Given the description of an element on the screen output the (x, y) to click on. 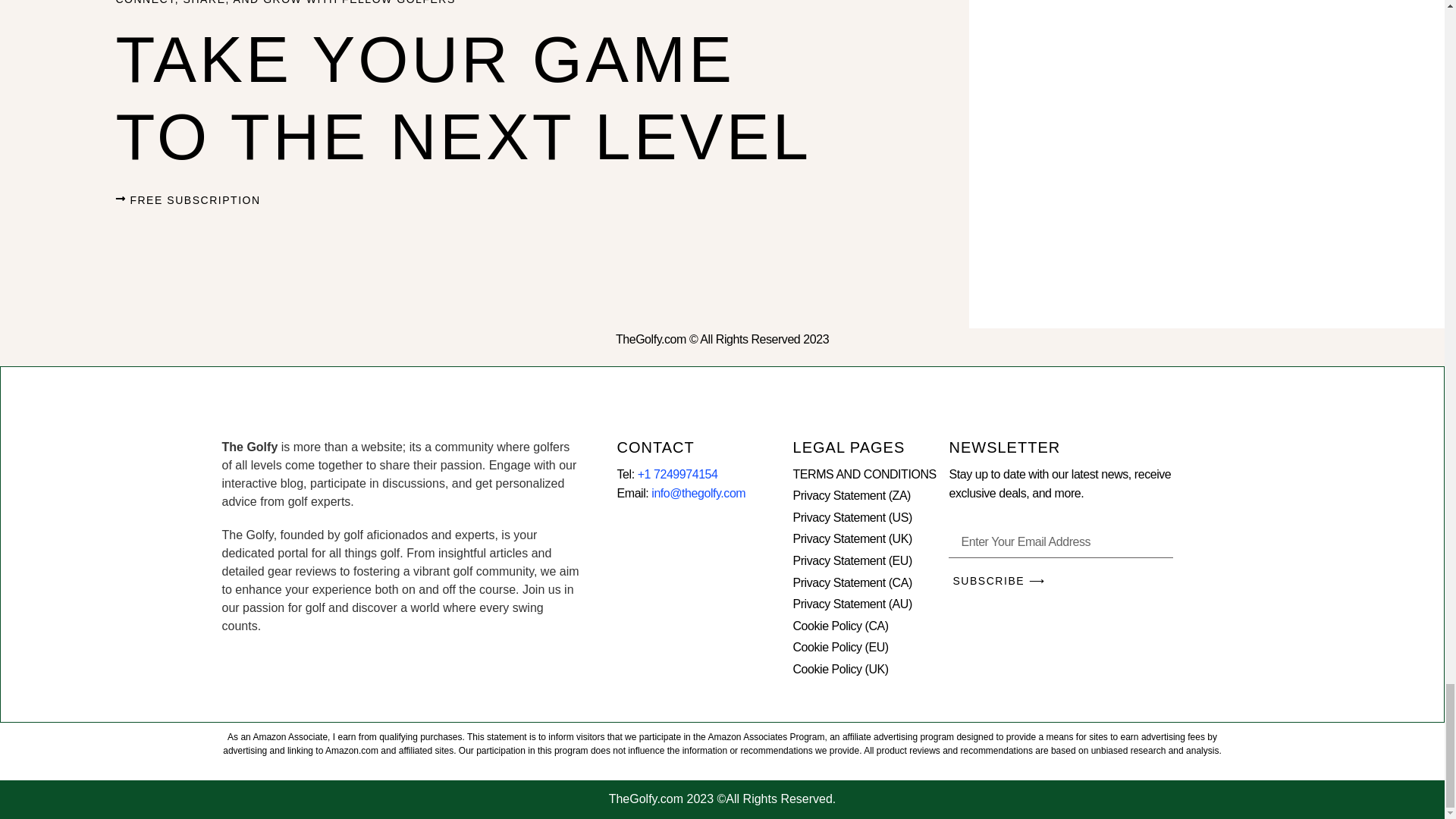
TERMS AND CONDITIONS (871, 474)
FREE SUBSCRIPTION (187, 200)
